Given the description of an element on the screen output the (x, y) to click on. 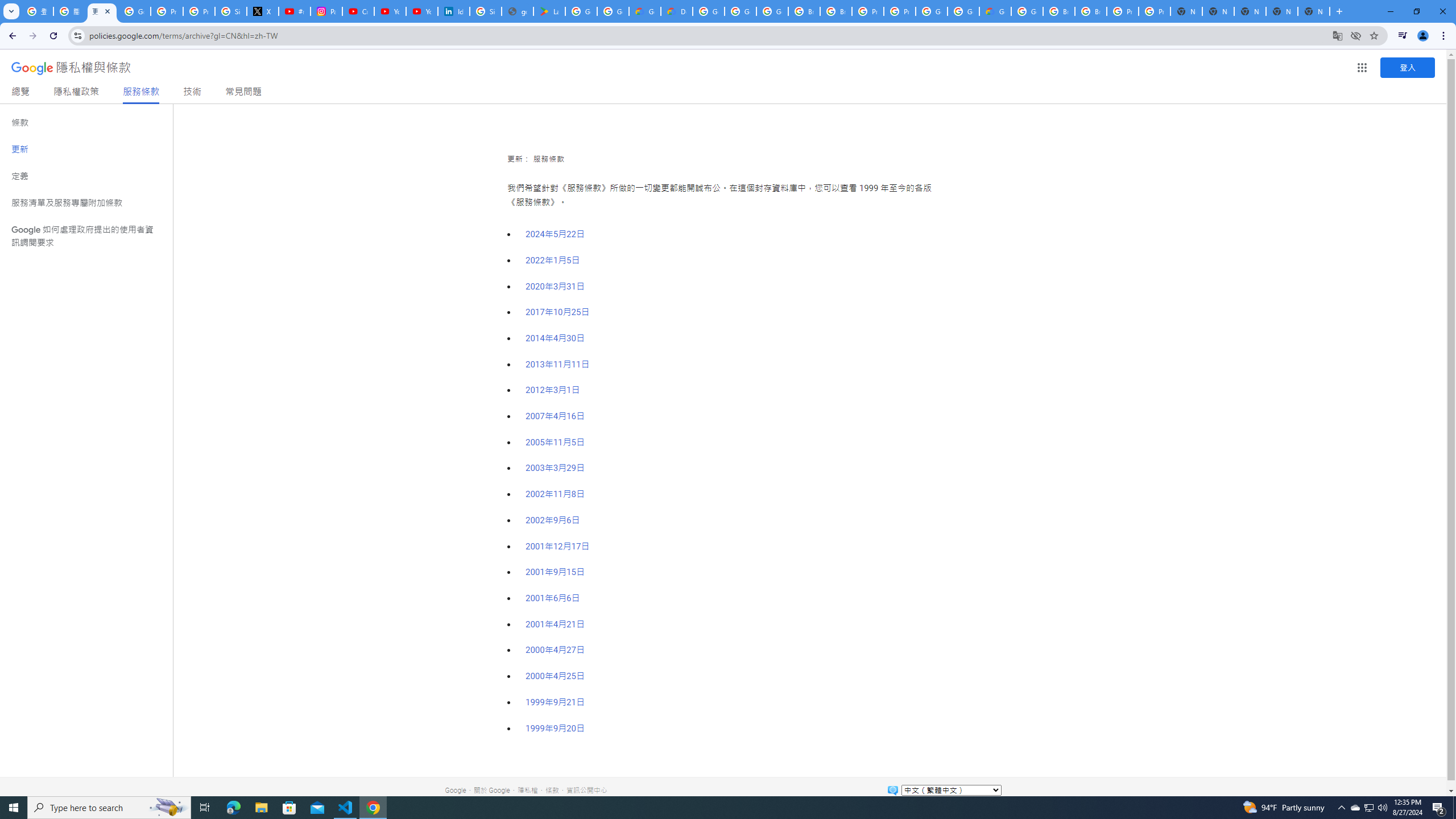
Last Shelter: Survival - Apps on Google Play (549, 11)
Browse Chrome as a guest - Computer - Google Chrome Help (1059, 11)
Google Cloud Platform (708, 11)
Google Workspace - Specific Terms (613, 11)
Google Cloud Platform (963, 11)
